Given the description of an element on the screen output the (x, y) to click on. 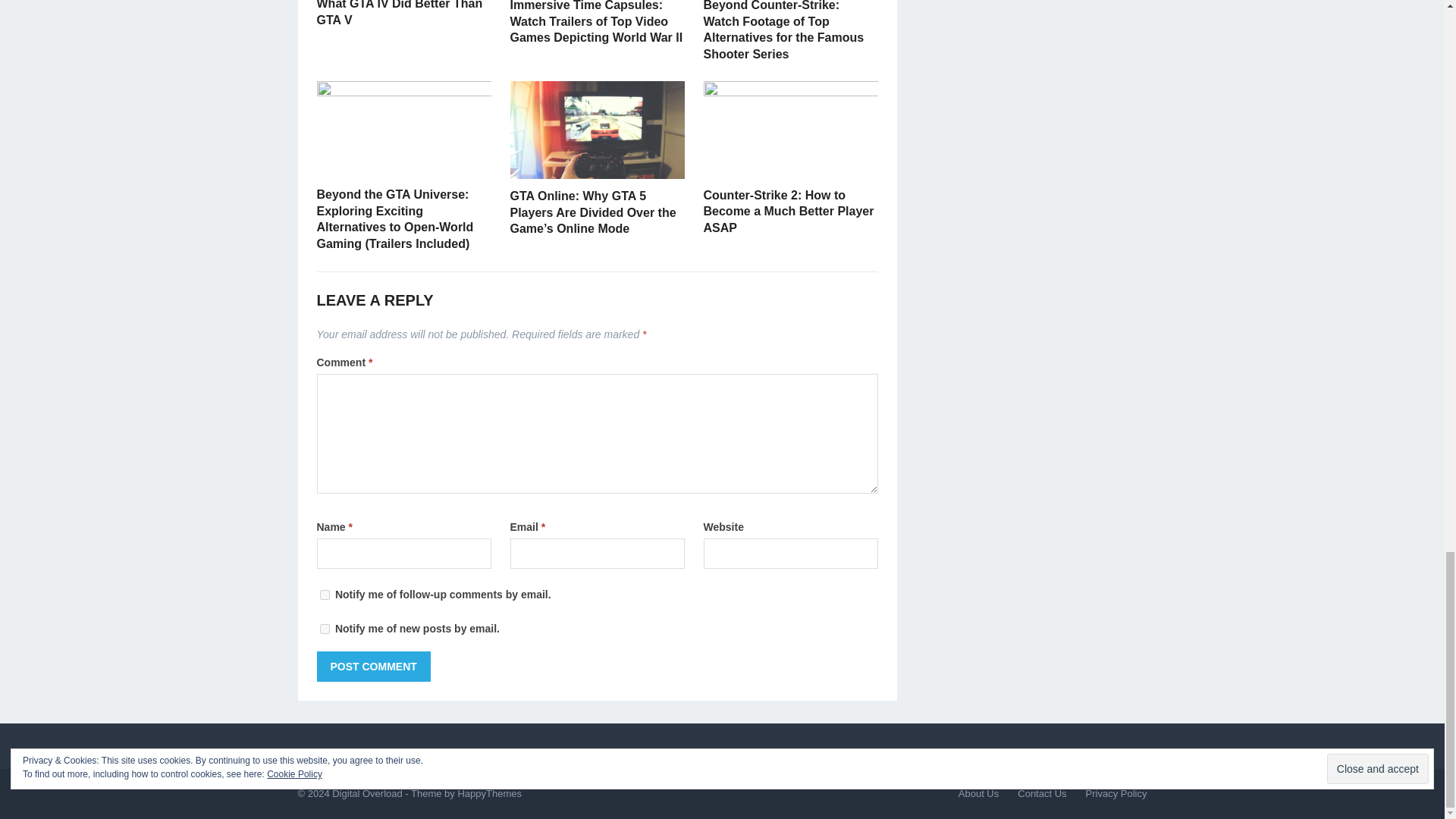
Post Comment (373, 666)
subscribe (325, 628)
Counter-Strike 2: How to Become a Much Better Player ASAP (789, 211)
subscribe (325, 594)
Post Comment (373, 666)
What GTA IV Did Better Than GTA V (400, 13)
